Given the description of an element on the screen output the (x, y) to click on. 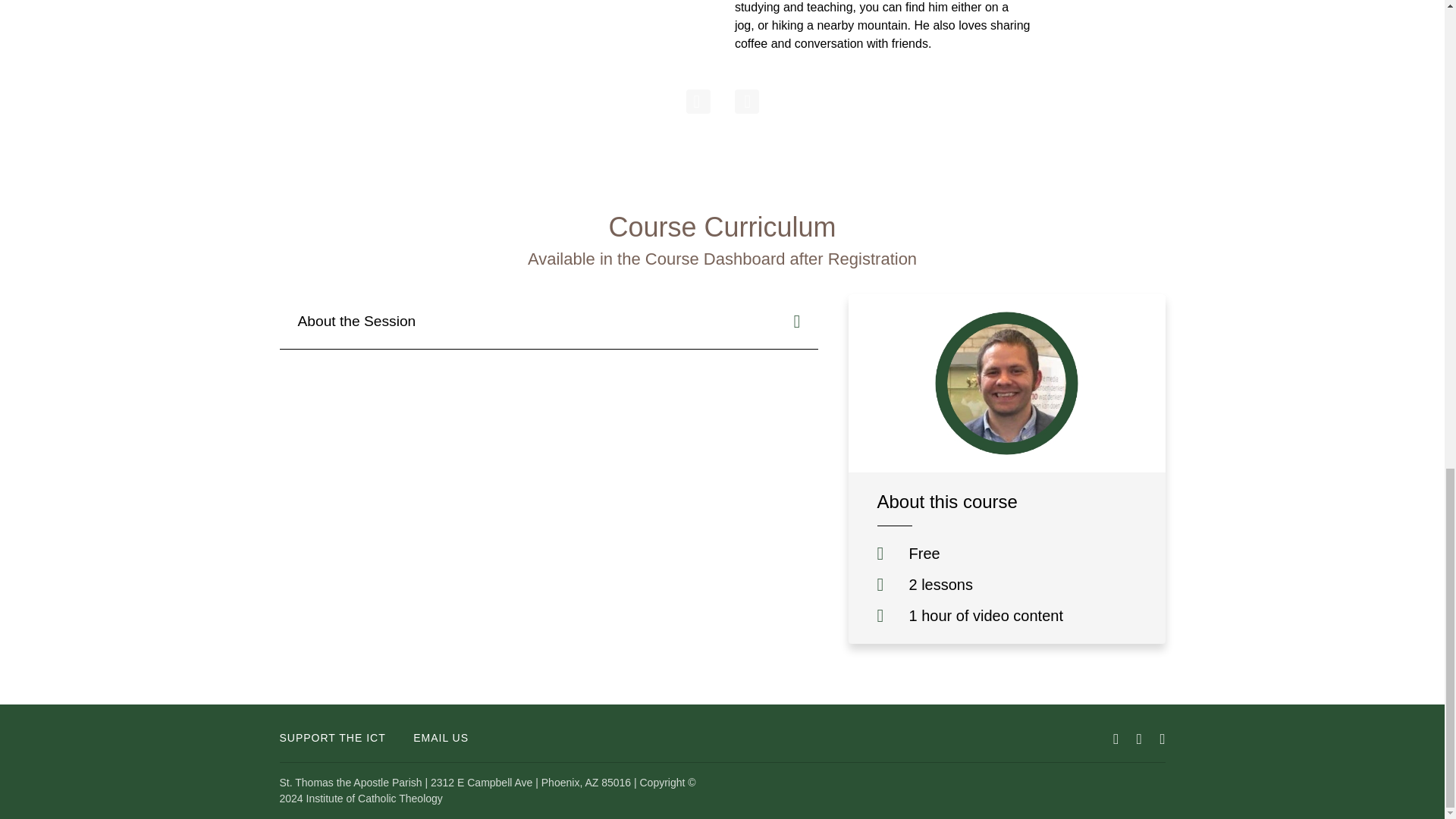
SUPPORT THE ICT (332, 738)
EMAIL US (440, 738)
About the Session (547, 321)
